Given the description of an element on the screen output the (x, y) to click on. 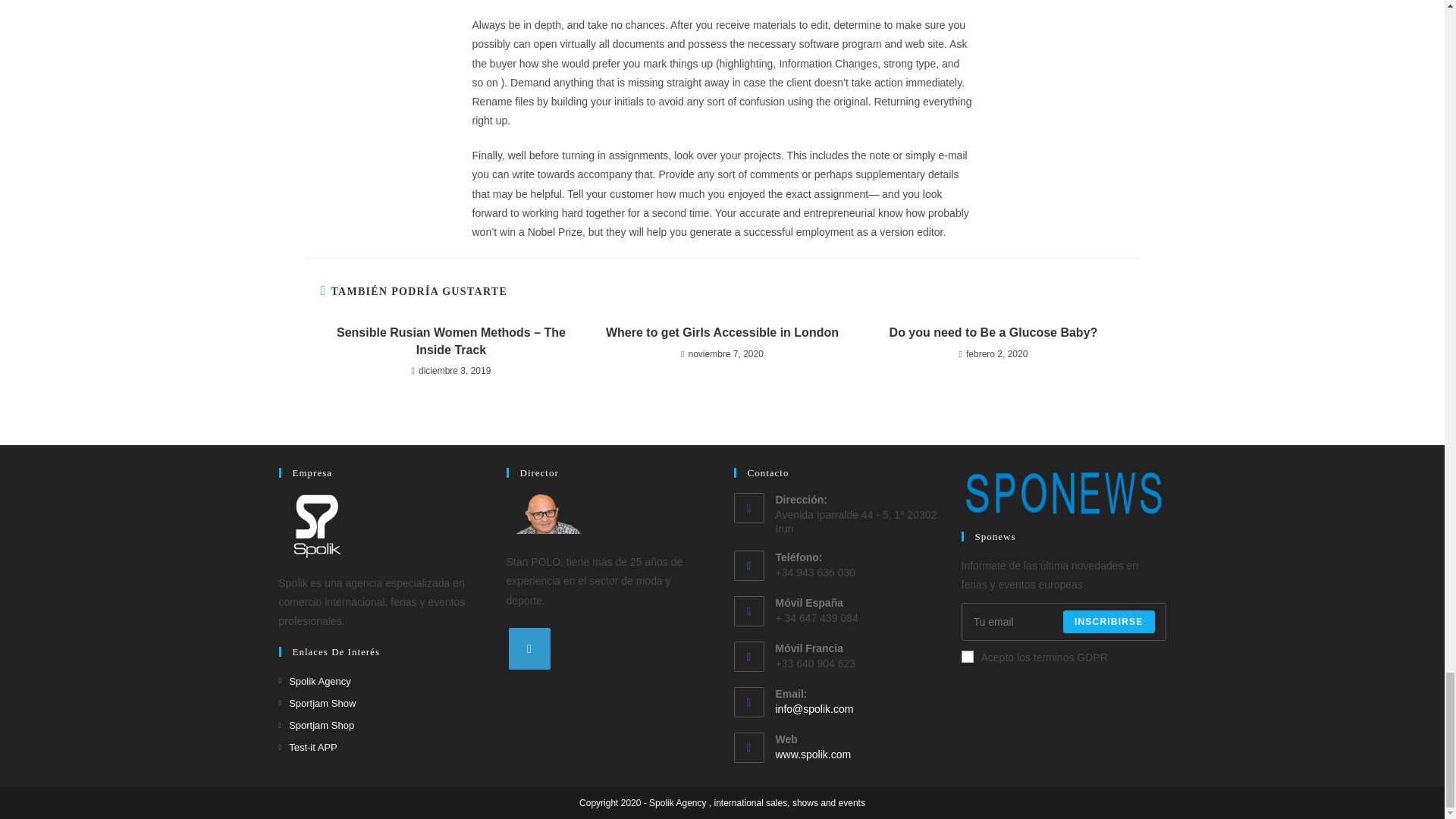
Do you need to Be a Glucose Baby? (992, 332)
Sportjam Shop (317, 724)
Test-it APP (308, 746)
Where to get Girls Accessible in London (721, 332)
Spolik Agency (314, 681)
www.spolik.com (812, 754)
1 (967, 656)
Sportjam Show (317, 702)
